Given the description of an element on the screen output the (x, y) to click on. 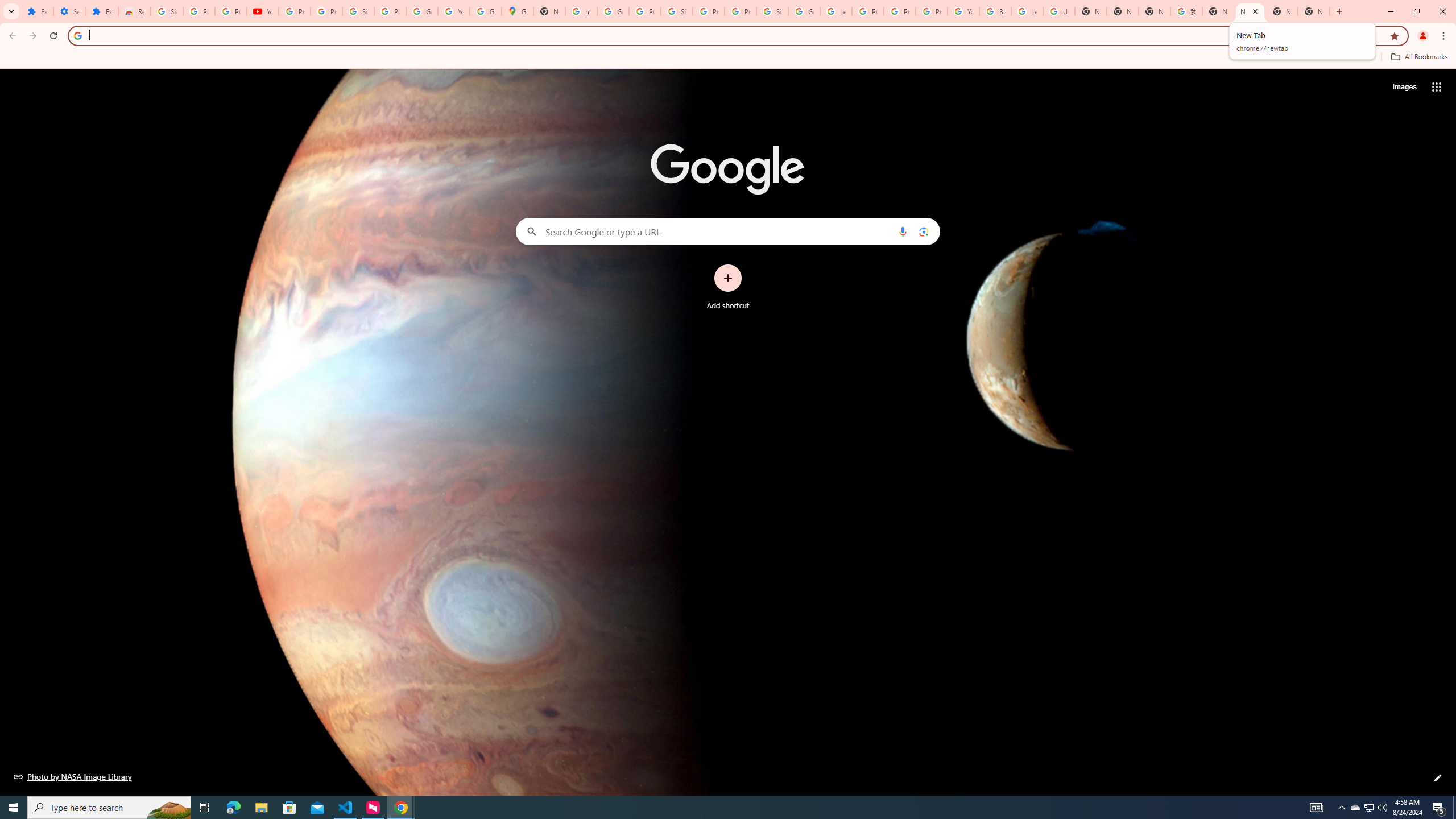
Sign in - Google Accounts (358, 11)
Photo by NASA Image Library (72, 776)
Search Google or type a URL (727, 230)
